Given the description of an element on the screen output the (x, y) to click on. 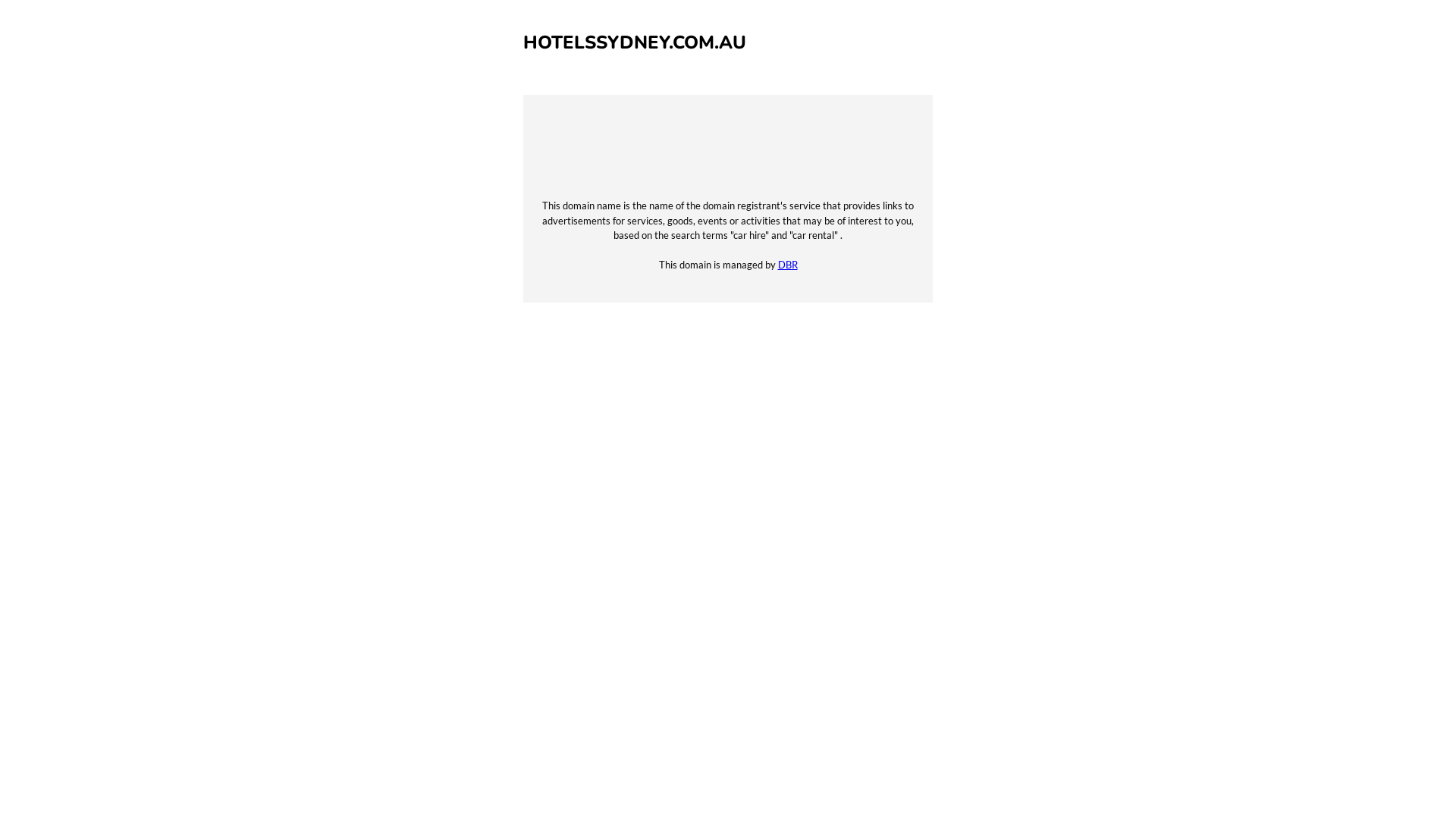
HOTELSSYDNEY.COM.AU Element type: text (634, 42)
DBR Element type: text (787, 264)
